Given the description of an element on the screen output the (x, y) to click on. 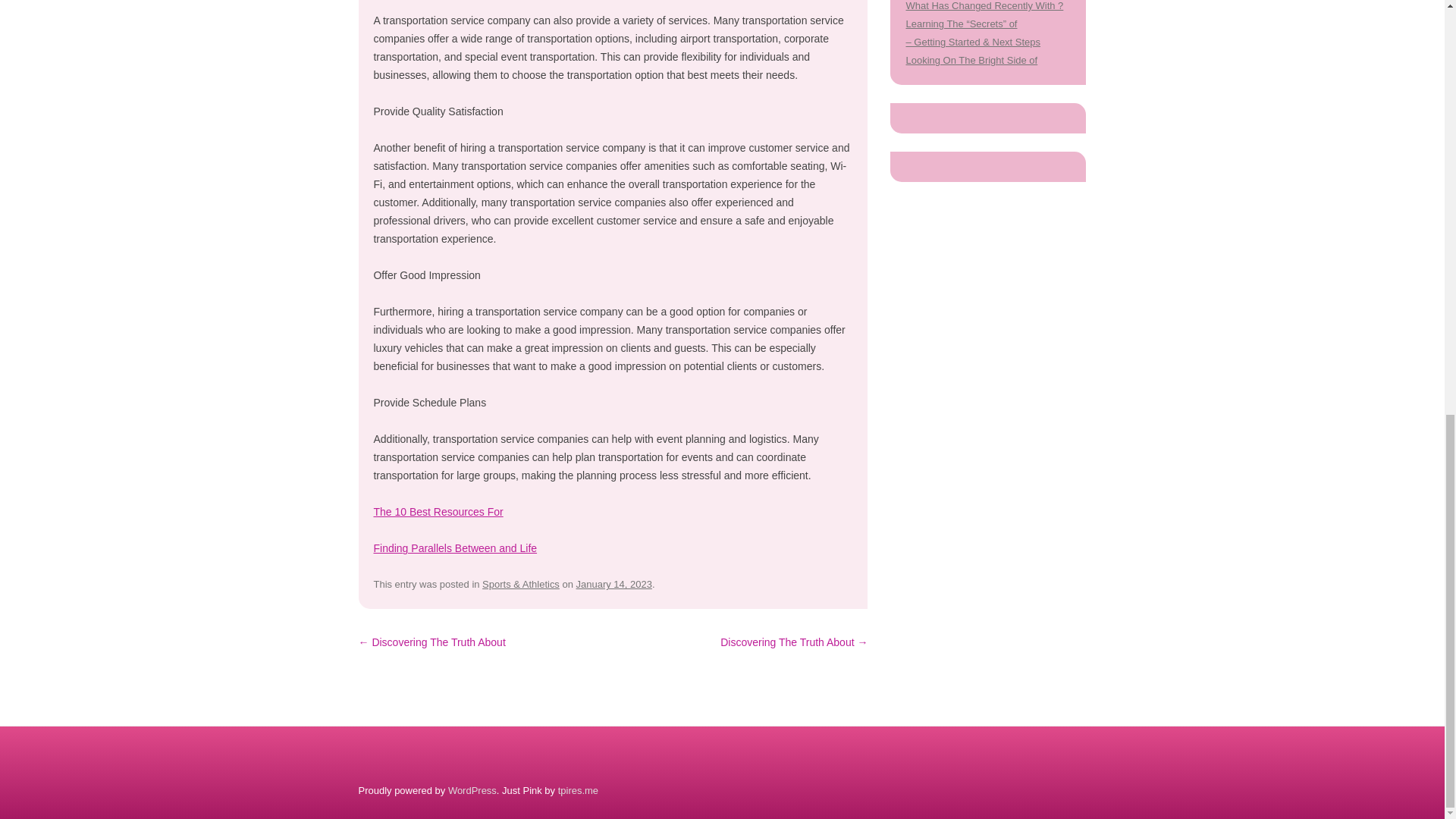
8:00 pm (614, 583)
January 14, 2023 (614, 583)
Finding Parallels Between and Life (454, 548)
The 10 Best Resources For (437, 511)
Semantic Personal Publishing Platform (472, 790)
What Has Changed Recently With ? (983, 5)
